Given the description of an element on the screen output the (x, y) to click on. 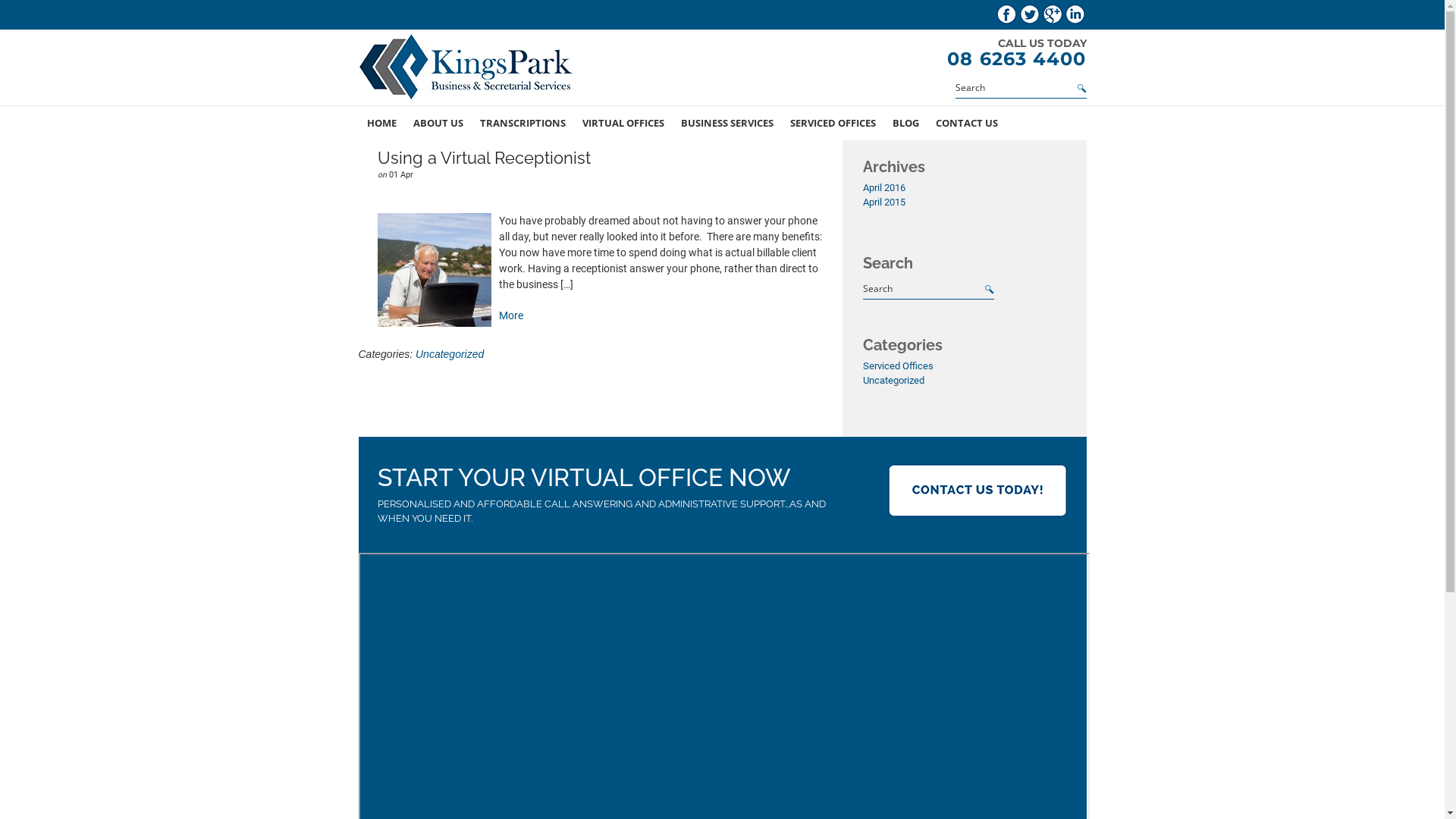
CONTACT US Element type: text (965, 123)
SERVICED OFFICES Element type: text (832, 123)
Uncategorized Element type: text (893, 379)
April 2015 Element type: text (883, 201)
Kings Park Business and Secretarial Services Element type: text (467, 69)
More Element type: text (510, 315)
April 2016 Element type: text (883, 187)
Uncategorized Element type: text (449, 354)
ABOUT US Element type: text (437, 123)
Serviced Offices Element type: text (897, 365)
HOME Element type: text (380, 123)
Using a Virtual Receptionist Element type: text (483, 157)
TRANSCRIPTIONS Element type: text (522, 123)
VIRTUAL OFFICES Element type: text (622, 123)
BUSINESS SERVICES Element type: text (726, 123)
BLOG Element type: text (905, 123)
